Given the description of an element on the screen output the (x, y) to click on. 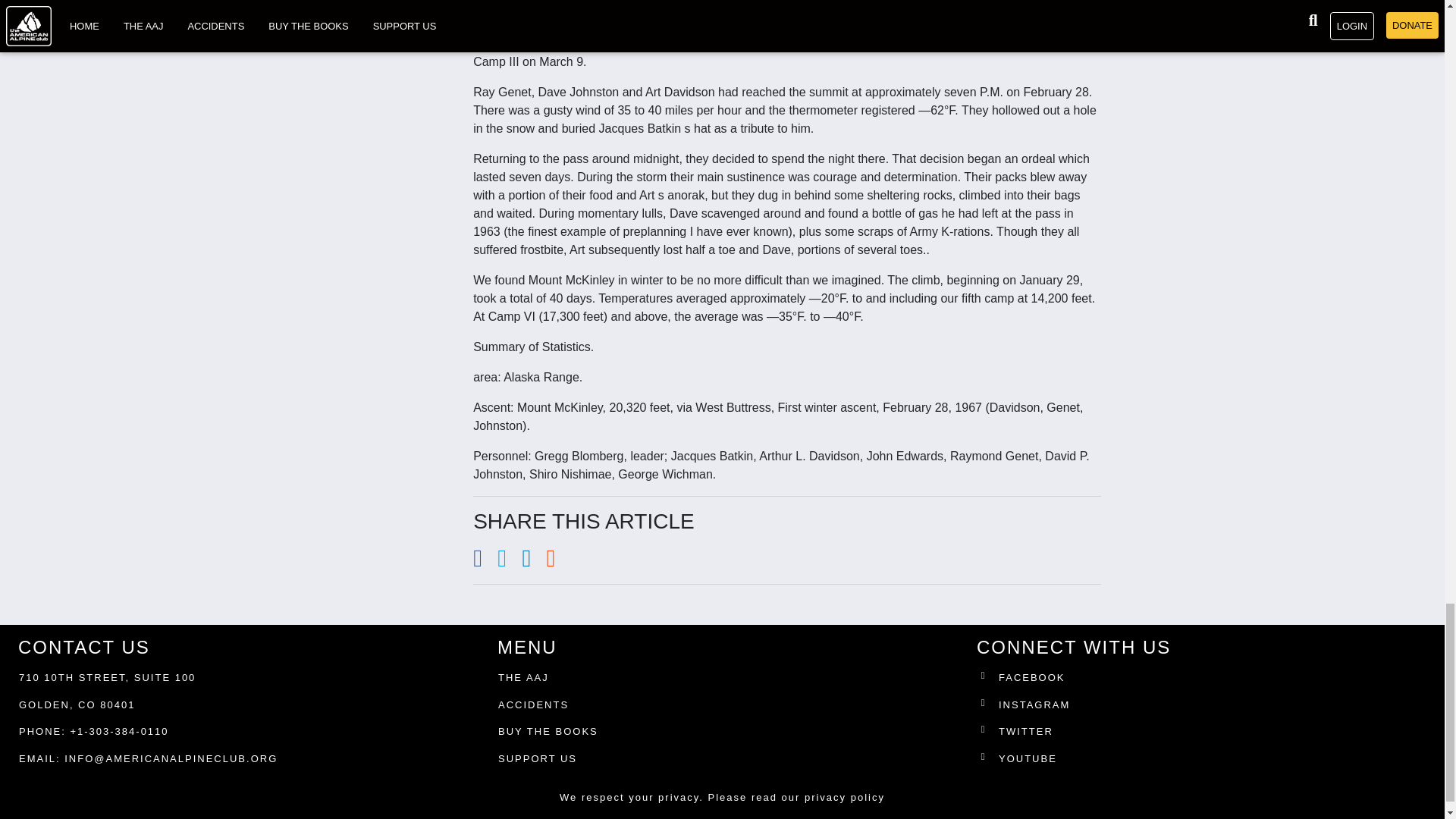
THE AAJ (522, 677)
SUPPORT US (536, 758)
BUY THE BOOKS (547, 731)
FACEBOOK (1204, 680)
Share to Facebook (485, 562)
Share to Twitter (509, 562)
Share to Reddit (557, 562)
Share to LinkedIn (533, 562)
INSTAGRAM (1204, 708)
ACCIDENTS (533, 704)
We respect your privacy. Please read our privacy policy (722, 797)
YOUTUBE (1204, 762)
TWITTER (1204, 734)
